Given the description of an element on the screen output the (x, y) to click on. 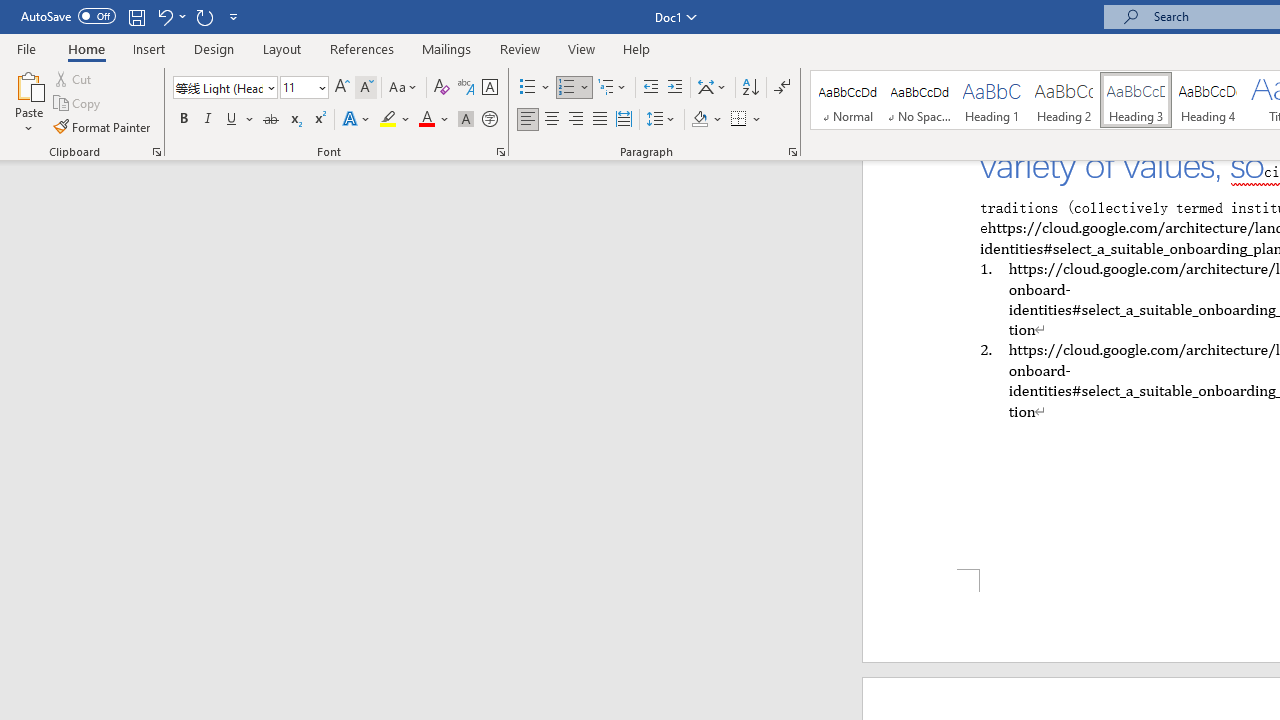
Asian Layout (712, 87)
Format Painter (103, 126)
Font Color Blue-Gray, Text 2 (426, 119)
Sort... (750, 87)
Line and Paragraph Spacing (661, 119)
Justify (599, 119)
Heading 1 (991, 100)
Character Shading (465, 119)
Undo Paragraph Alignment (164, 15)
Italic (207, 119)
